Given the description of an element on the screen output the (x, y) to click on. 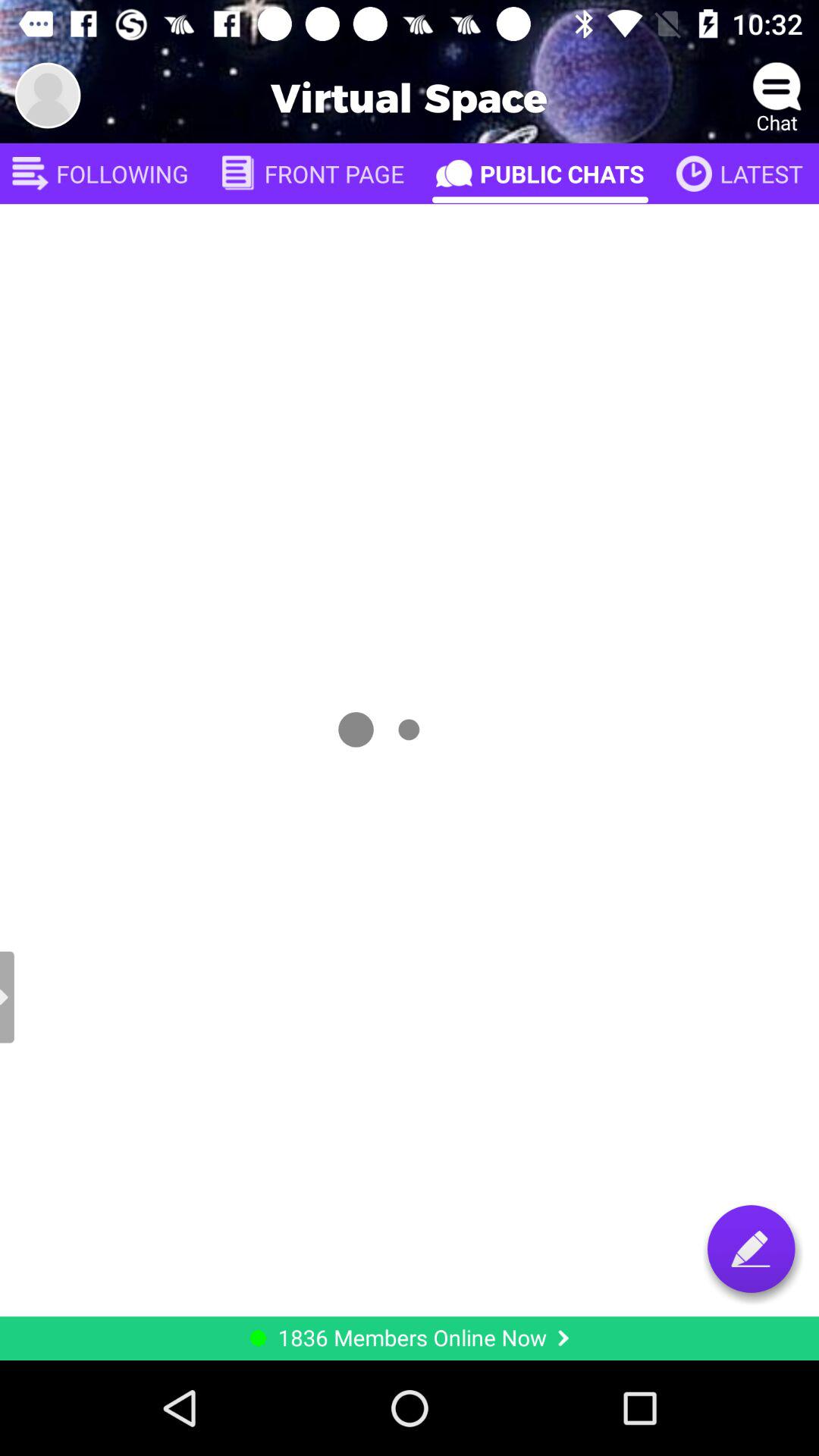
write something (751, 1248)
